Given the description of an element on the screen output the (x, y) to click on. 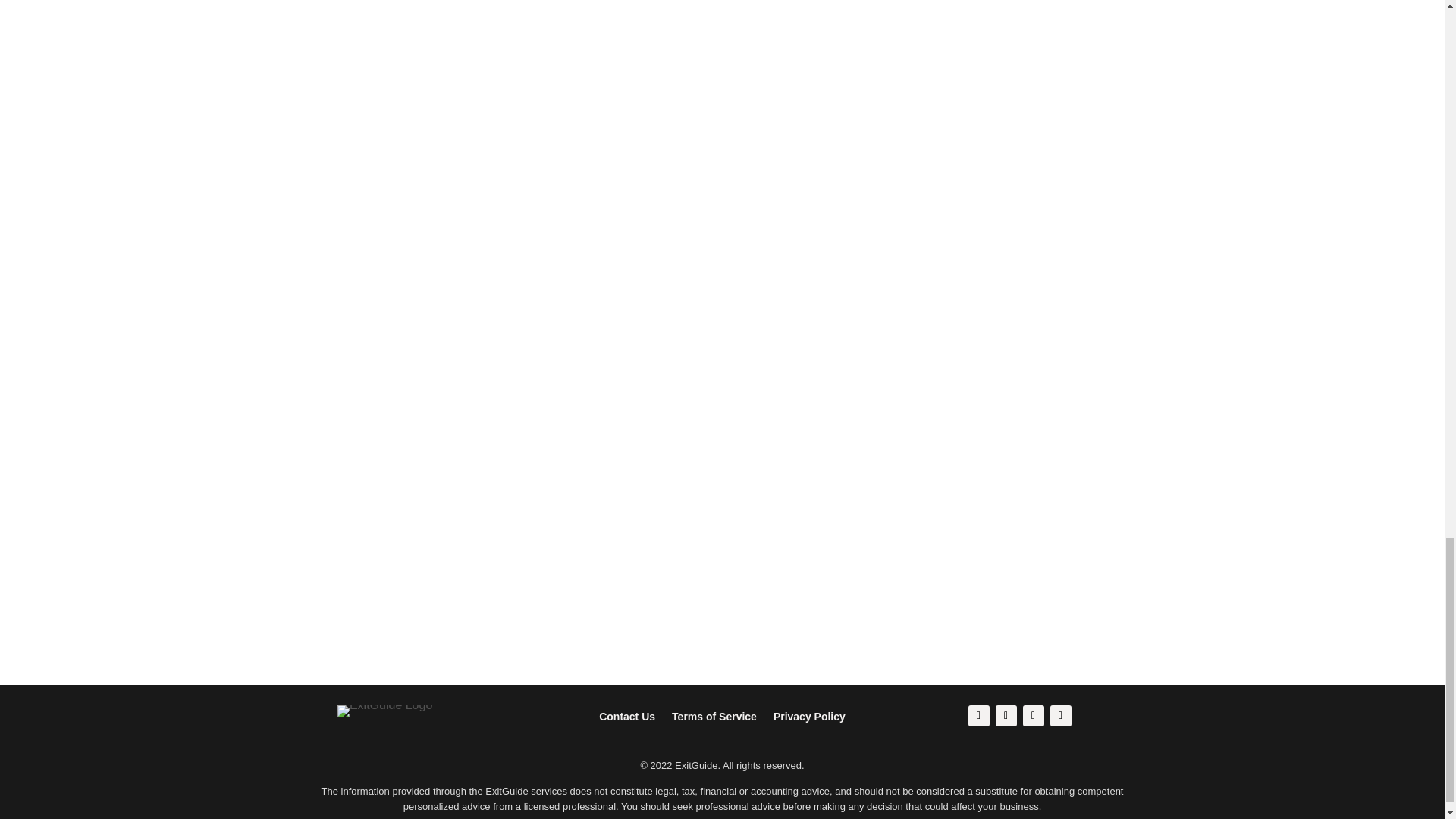
Follow on Youtube (1059, 715)
Follow on LinkedIn (1032, 715)
Follow on X (1005, 715)
Follow on Facebook (978, 715)
